Given the description of an element on the screen output the (x, y) to click on. 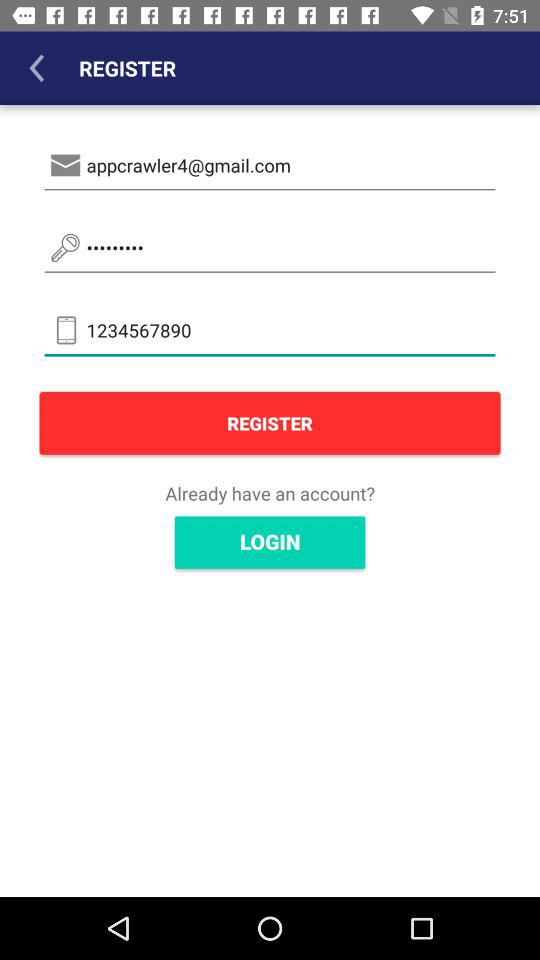
turn off appcrawler4@gmail.com icon (269, 165)
